Given the description of an element on the screen output the (x, y) to click on. 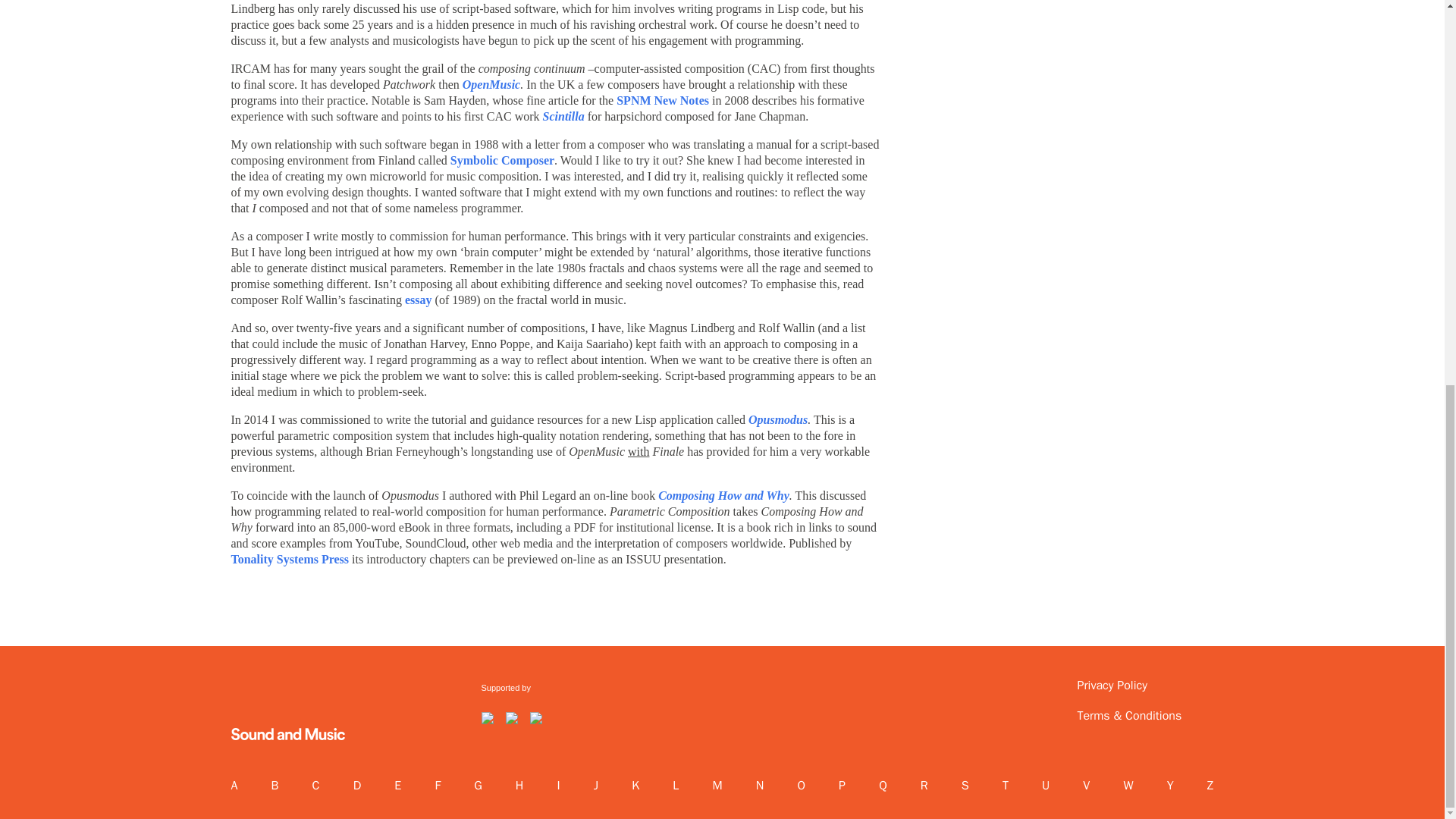
Scintilla (565, 115)
essay (418, 299)
OpenMusic (491, 83)
Symbolic Composer (501, 160)
Opusmodus (778, 419)
SPNM New Notes (662, 100)
Privacy Policy (1138, 685)
Tonality Systems Press (289, 558)
Composing How and Why (723, 495)
